Given the description of an element on the screen output the (x, y) to click on. 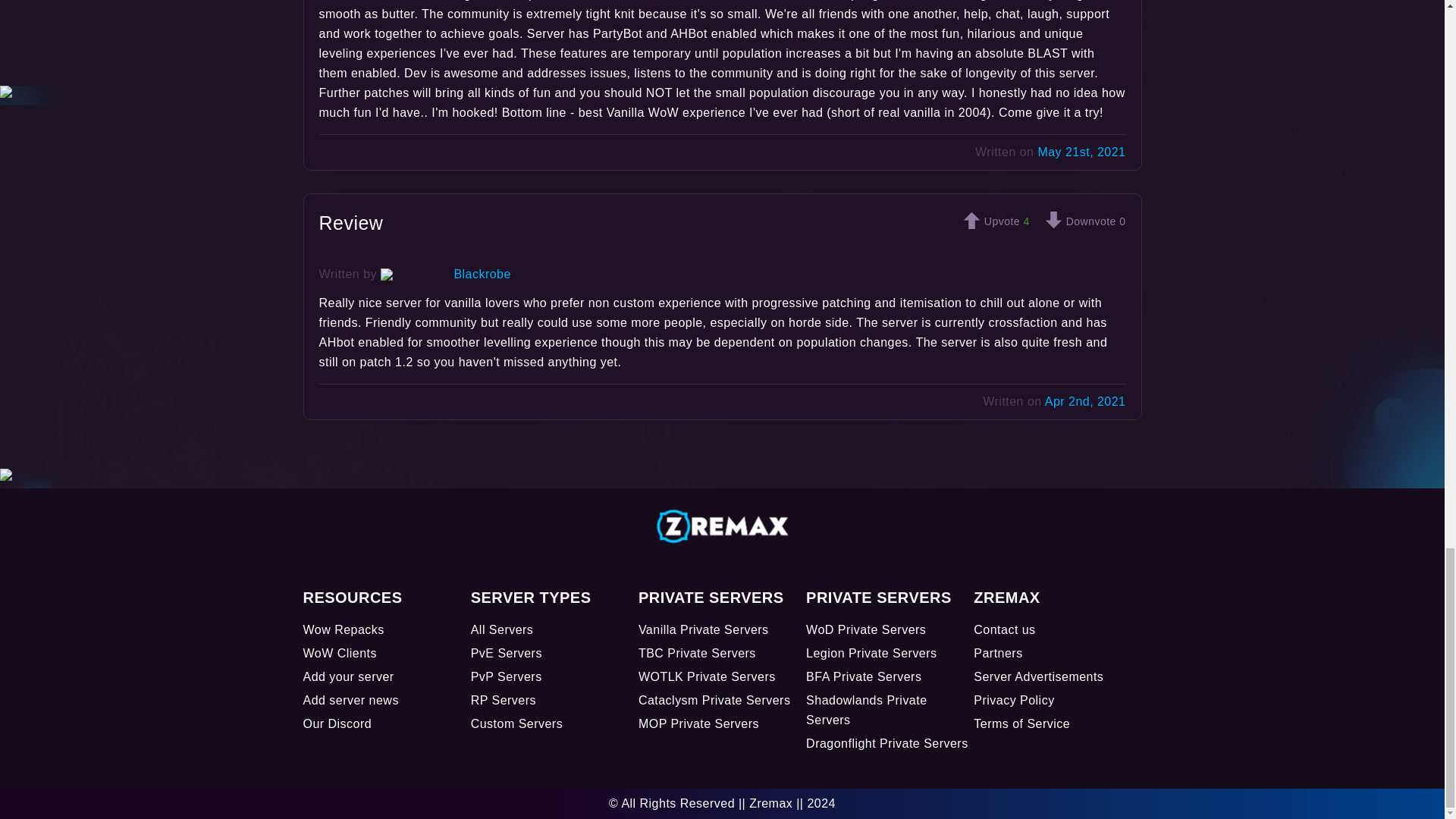
PvP Servers (505, 676)
PvE Servers (505, 653)
Shadowlands Private Servers (866, 709)
Cataclysm Private Servers (714, 699)
RP Servers (502, 699)
Our Discord (337, 723)
Vanilla Private Servers (703, 629)
TBC Private Servers (697, 653)
WoW Clients (339, 653)
All Servers (502, 629)
